Given the description of an element on the screen output the (x, y) to click on. 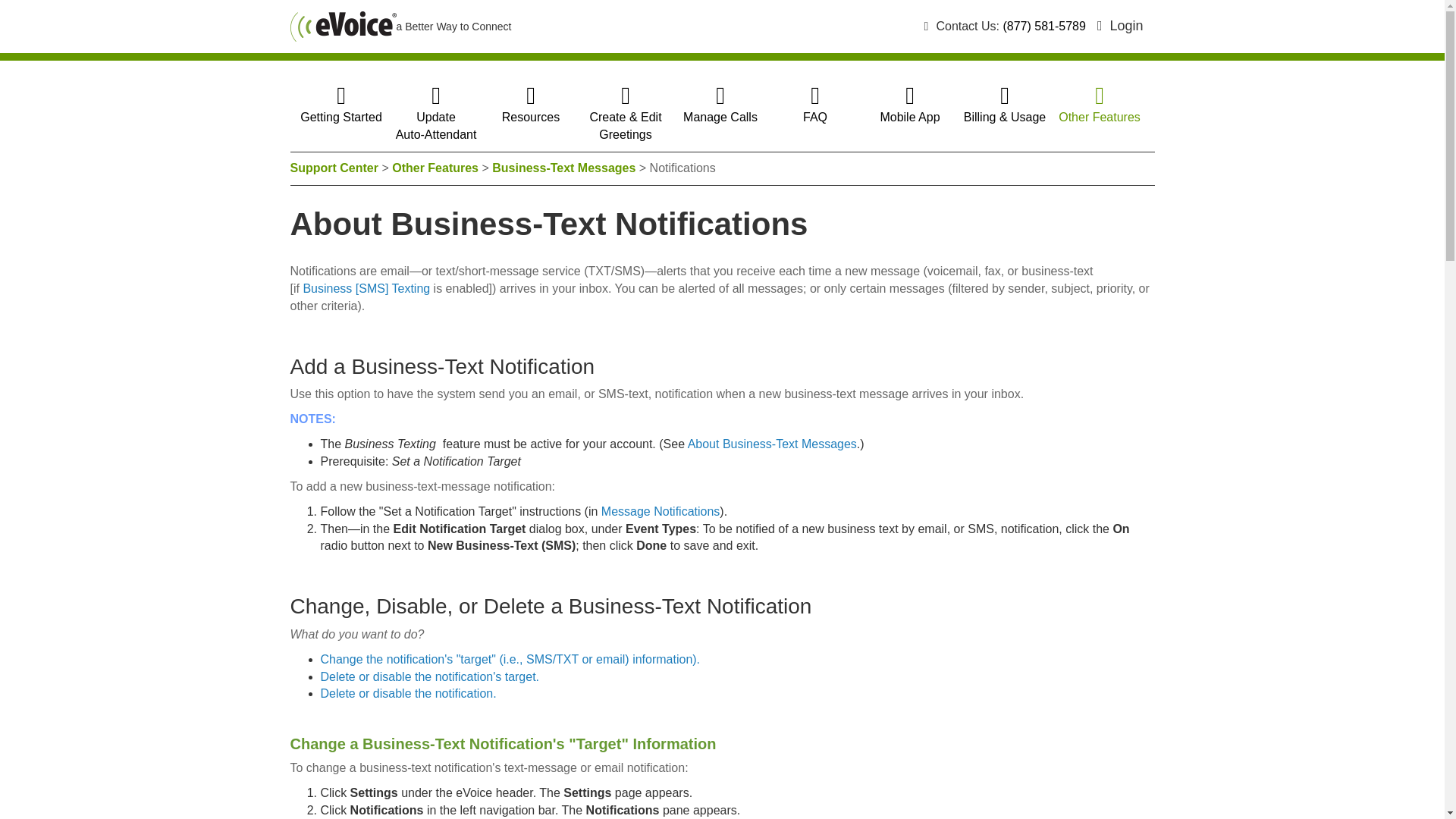
Support Center (333, 167)
Delete or disable the notification. (408, 693)
eVoice (342, 26)
Delete or disable the notification's target. (429, 676)
Message Notifications (660, 511)
Resources (436, 116)
About Business-Text Messages (530, 108)
Getting Started (772, 443)
Login (340, 108)
Business-Text Messages (1119, 25)
Other Features (563, 167)
Mobile App (435, 167)
a Better Way to Connect (909, 108)
Manage Calls (400, 26)
